Given the description of an element on the screen output the (x, y) to click on. 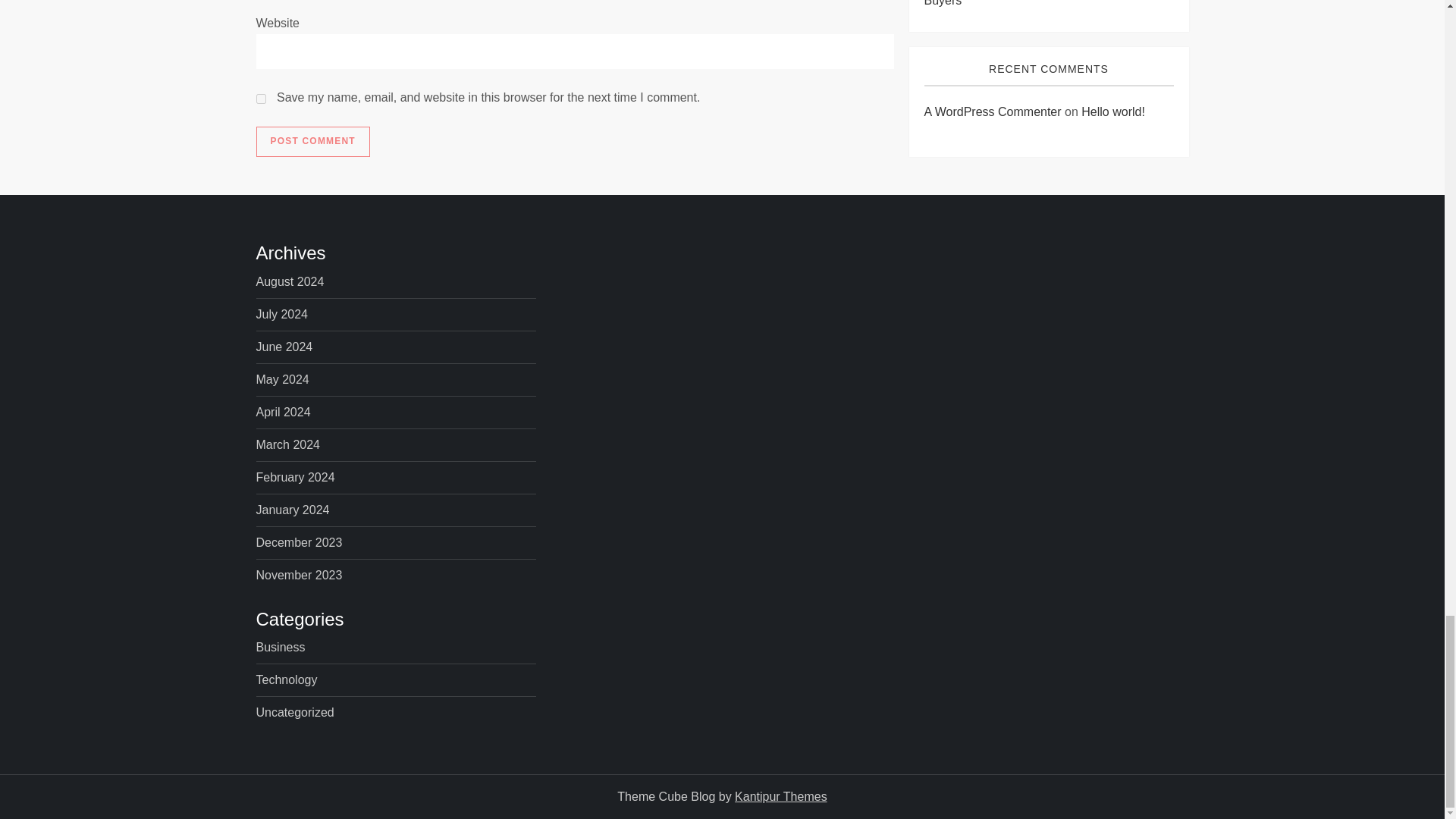
May 2024 (282, 379)
January 2024 (293, 509)
August 2024 (290, 281)
July 2024 (282, 314)
December 2023 (299, 542)
June 2024 (284, 346)
March 2024 (288, 444)
Post Comment (312, 141)
November 2023 (299, 575)
yes (261, 99)
